Given the description of an element on the screen output the (x, y) to click on. 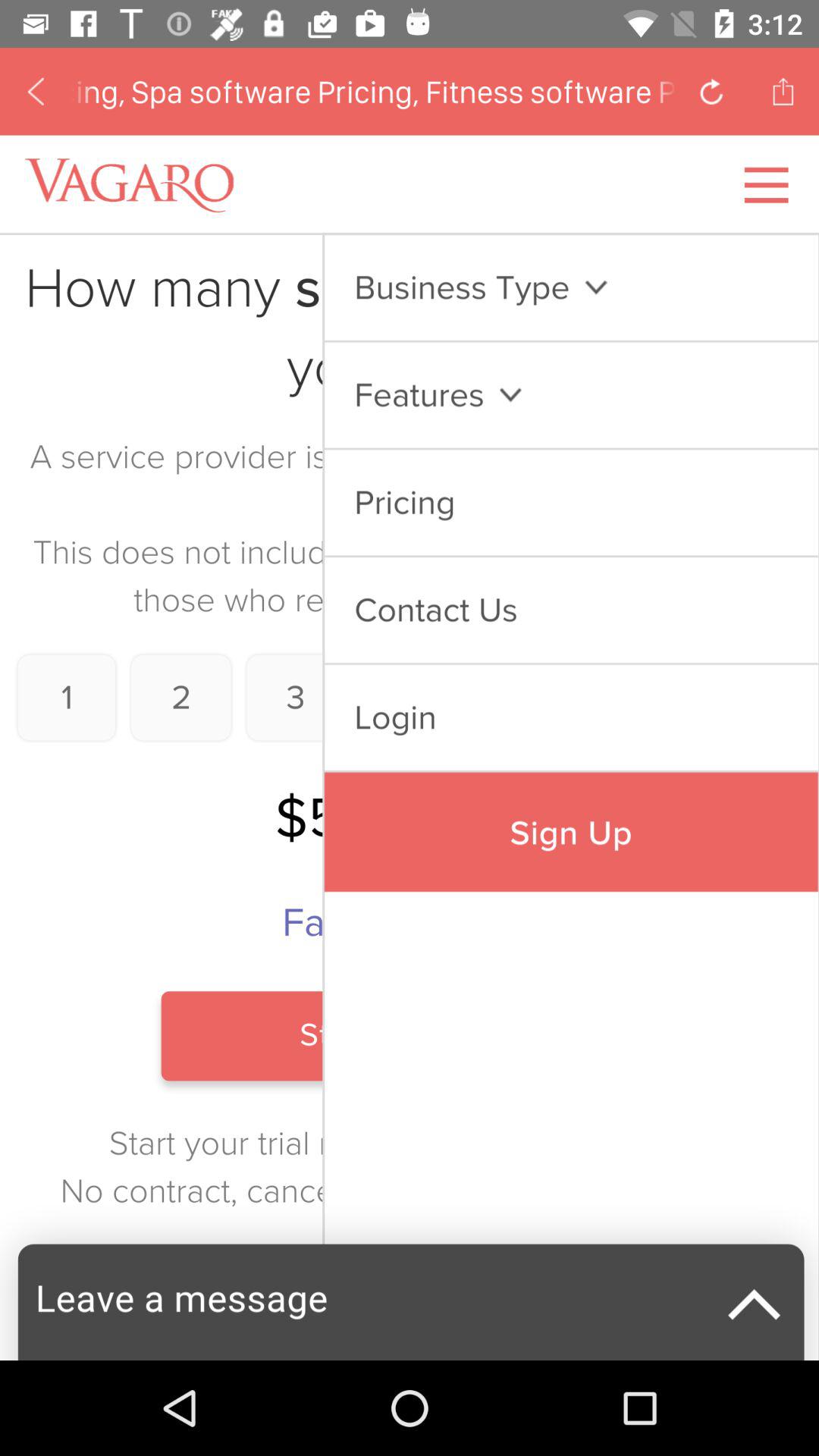
click arrow button (711, 91)
